Given the description of an element on the screen output the (x, y) to click on. 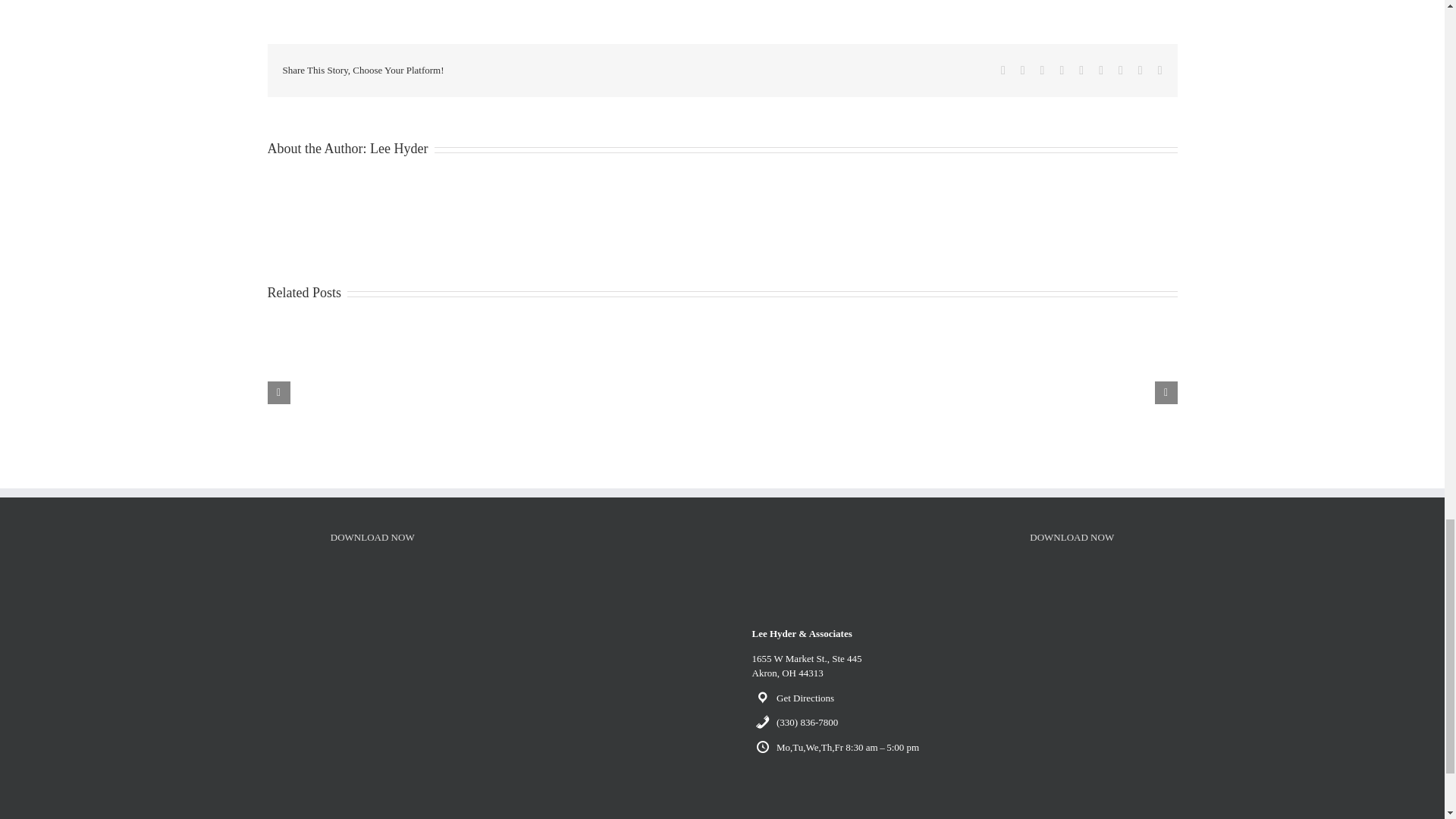
Posts by Lee Hyder (398, 148)
